Given the description of an element on the screen output the (x, y) to click on. 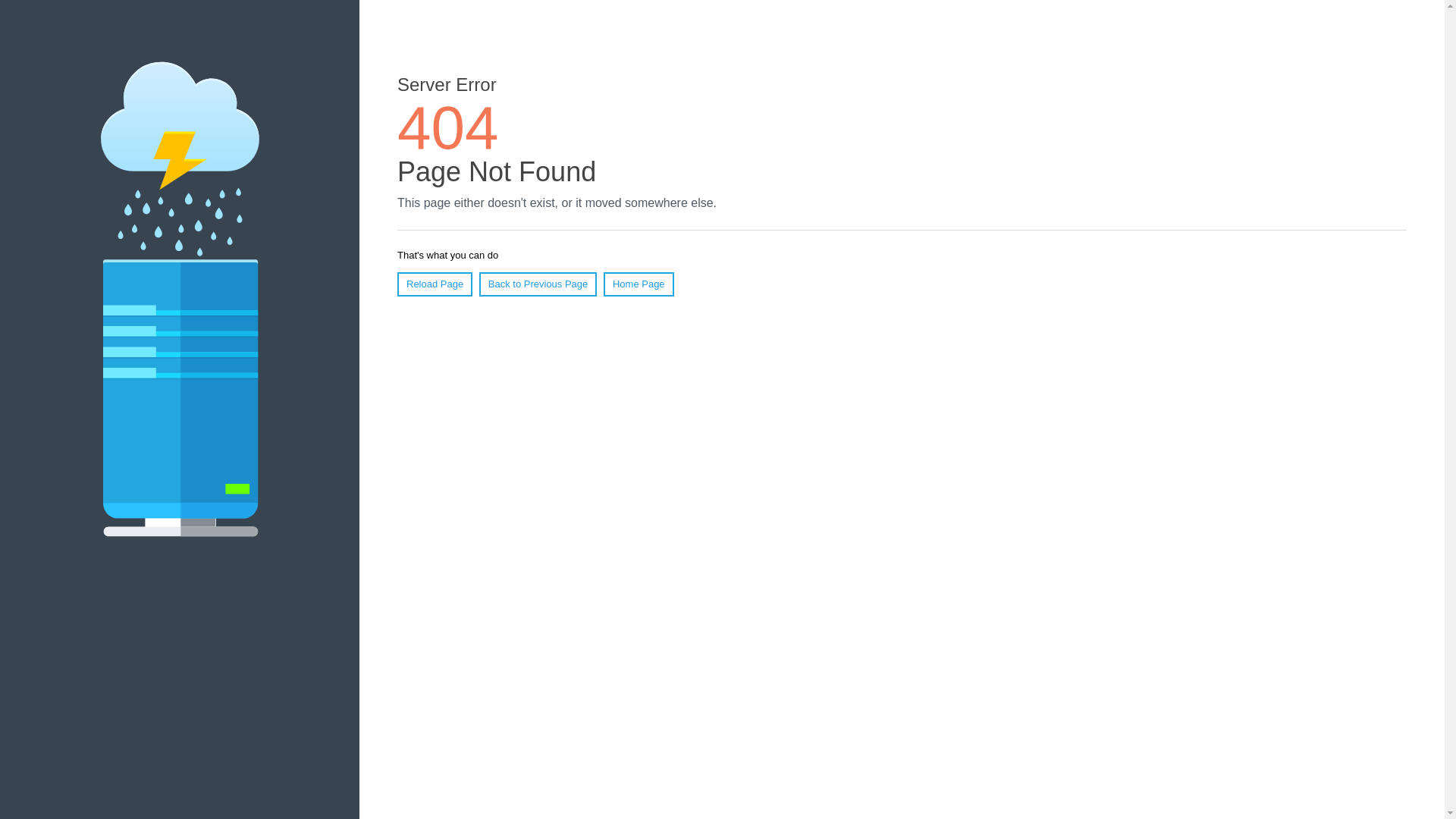
Back to Previous Page (537, 283)
Reload Page (434, 283)
Home Page (639, 283)
